Given the description of an element on the screen output the (x, y) to click on. 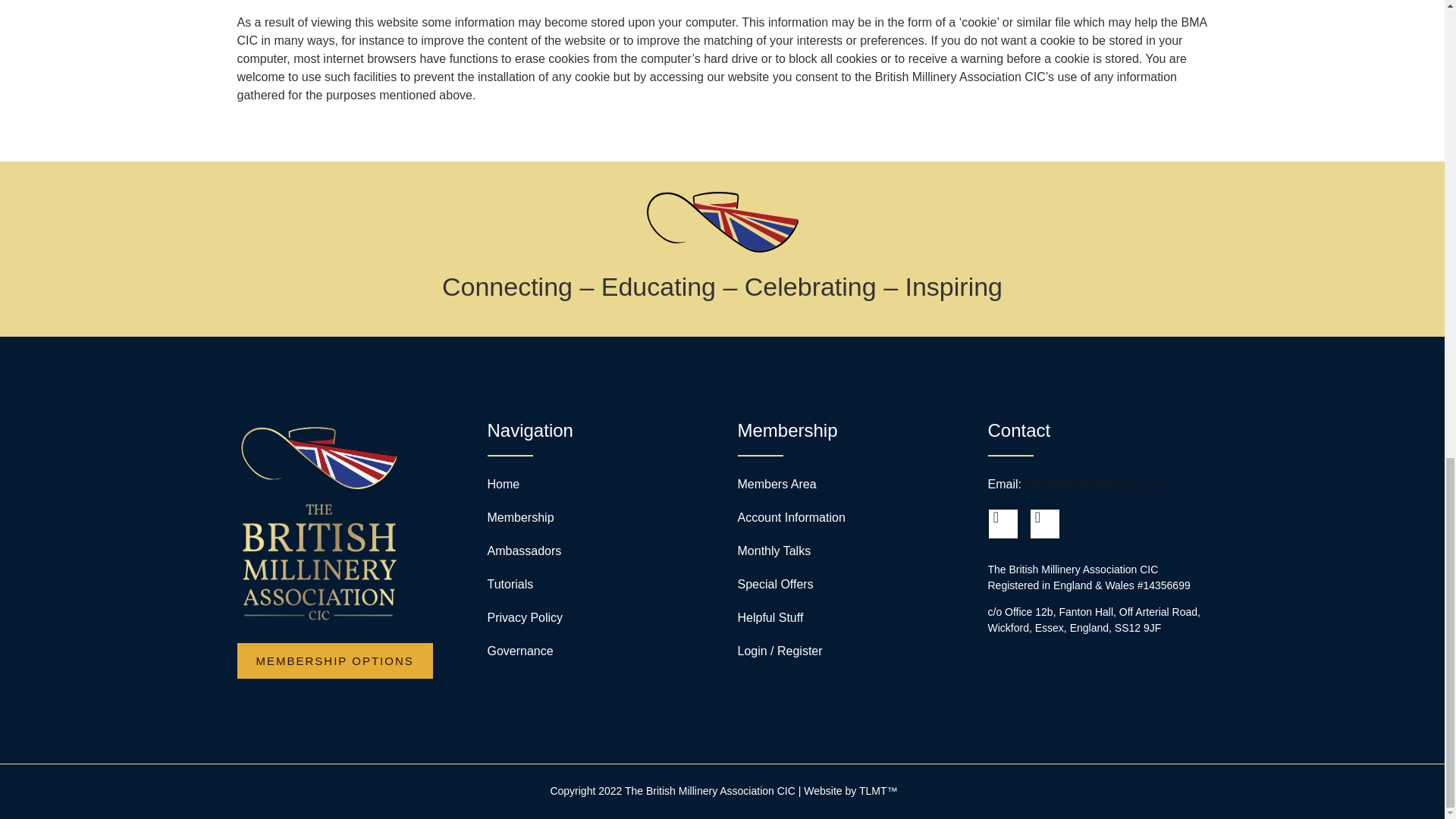
Members Area (775, 483)
Governance (519, 650)
Home (502, 483)
Account Information (790, 517)
Monthly Talks (773, 550)
Privacy Policy (524, 617)
Special Offers (774, 584)
MEMBERSHIP OPTIONS (333, 660)
Helpful Stuff (769, 617)
Membership (519, 517)
Tutorials (509, 584)
Ambassadors (523, 550)
